Given the description of an element on the screen output the (x, y) to click on. 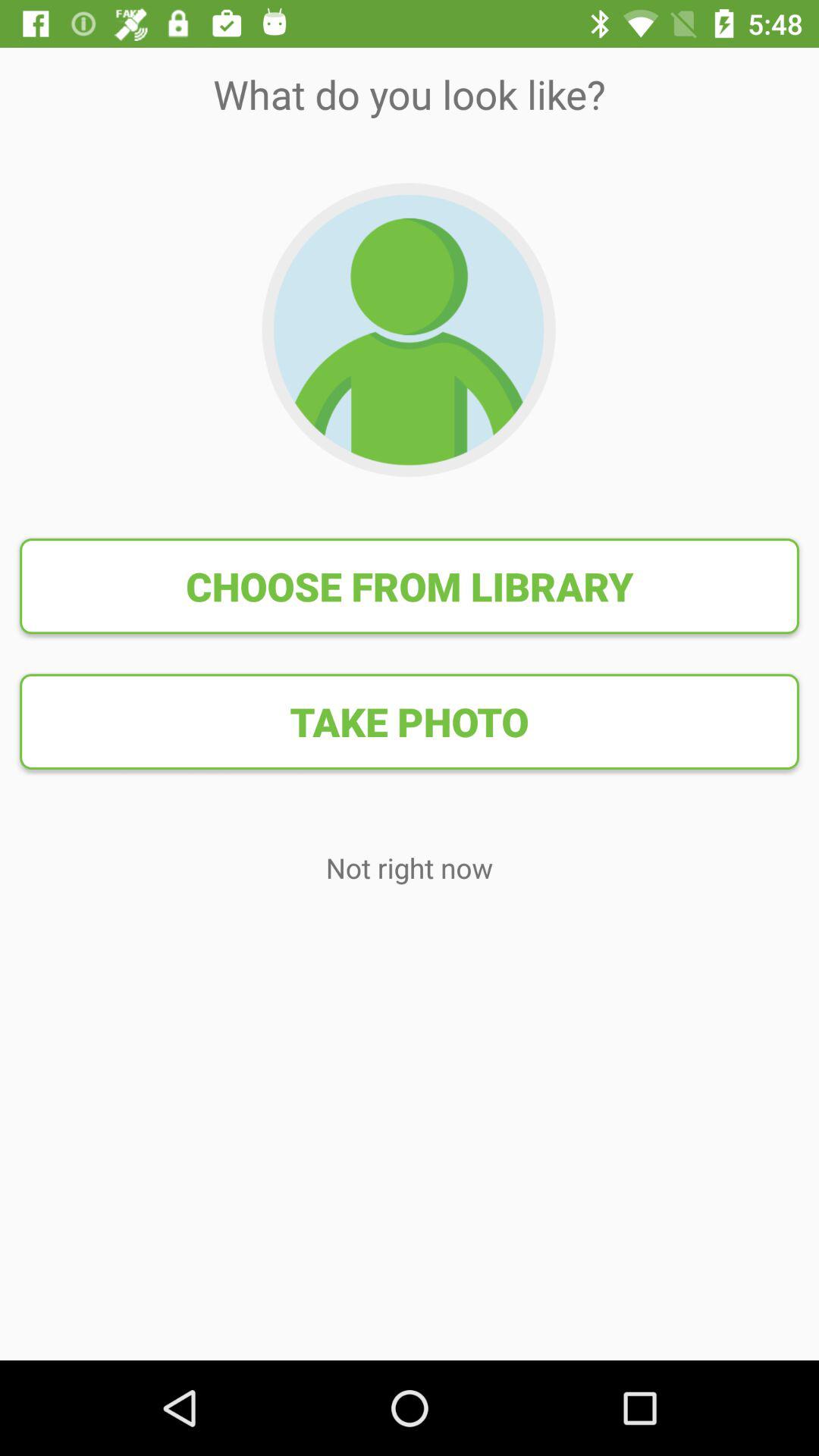
launch choose from library icon (409, 586)
